Given the description of an element on the screen output the (x, y) to click on. 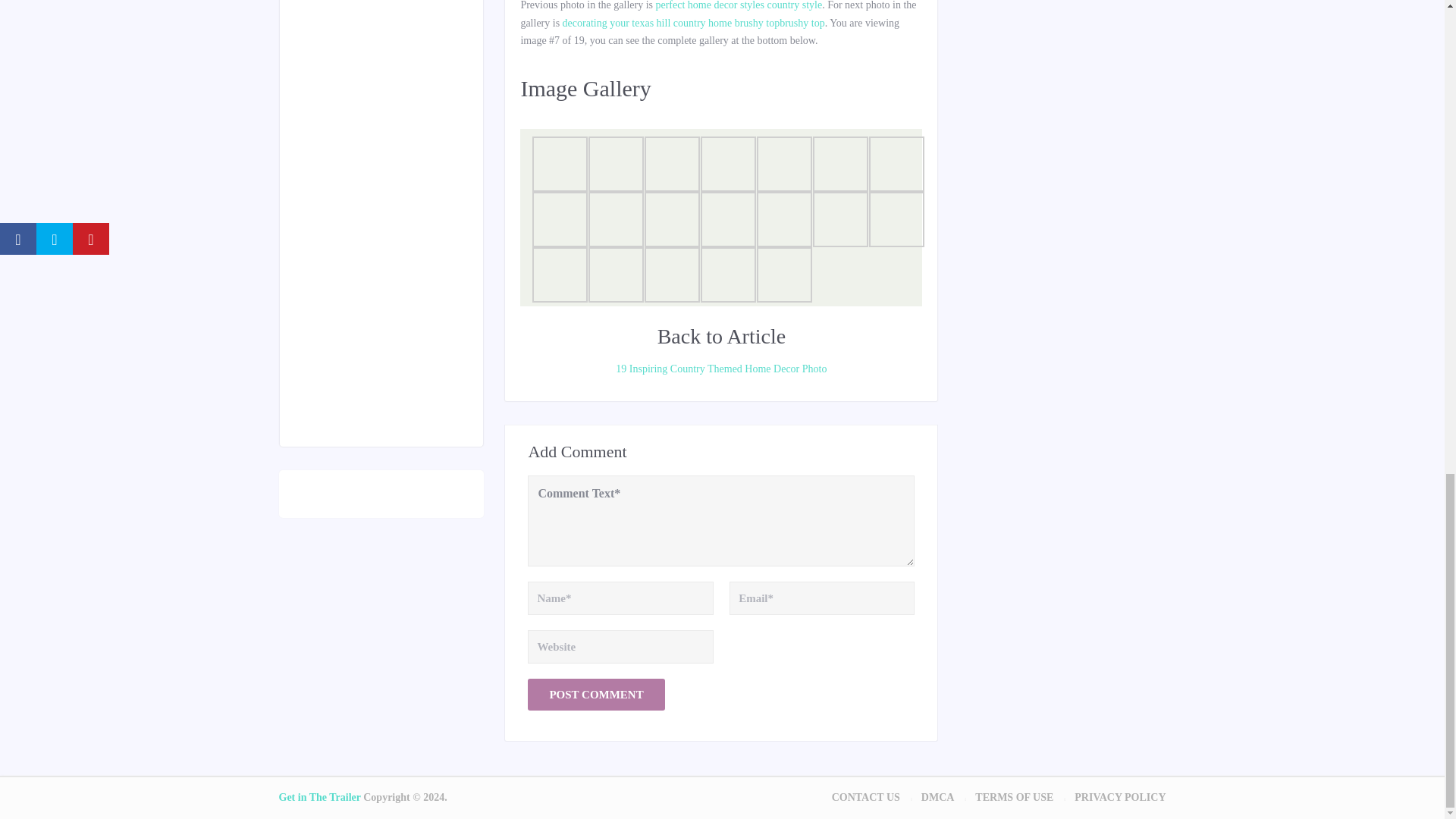
19 Inspiring Country Themed Home Decor Photo (720, 369)
Post Comment (595, 694)
Post Comment (595, 694)
decorating your texas hill country home brushy topbrushy top (693, 22)
perfect home decor styles country style (738, 5)
